Given the description of an element on the screen output the (x, y) to click on. 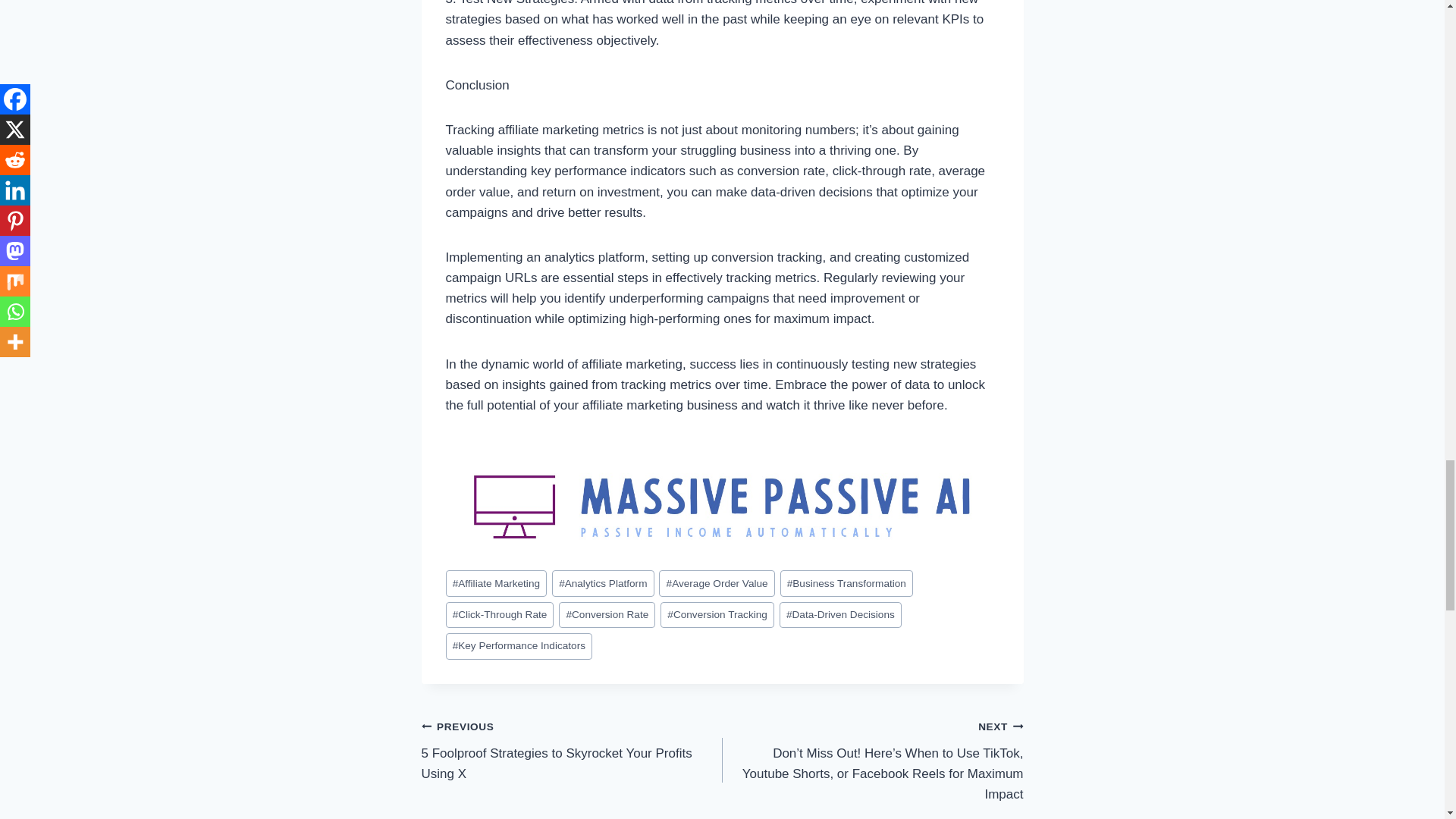
viral traffic (721, 495)
